Given the description of an element on the screen output the (x, y) to click on. 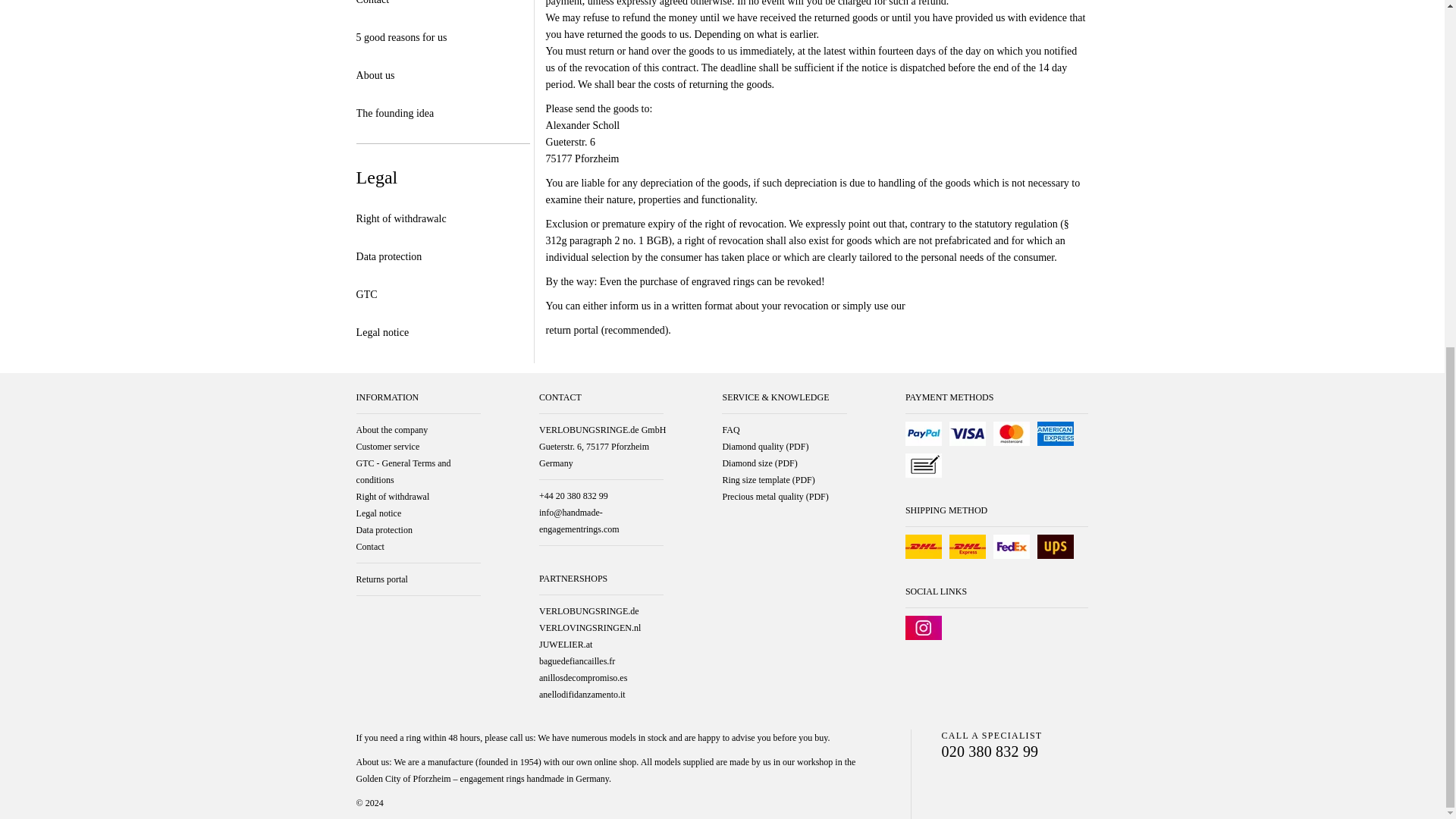
UPS (1055, 546)
baguedefiancailles.fr (600, 660)
anillosdecompromiso.es (600, 677)
VERLOVINGSRINGEN.nl (600, 627)
Paypal (923, 433)
FedEx (1010, 546)
Instagram (923, 627)
anellodifidanzamento.it (600, 694)
Mastercard (1010, 433)
VERLOBUNGSRINGE.de (600, 610)
JUWELIER.at (600, 644)
Visa (967, 433)
Prepayment (923, 465)
